Given the description of an element on the screen output the (x, y) to click on. 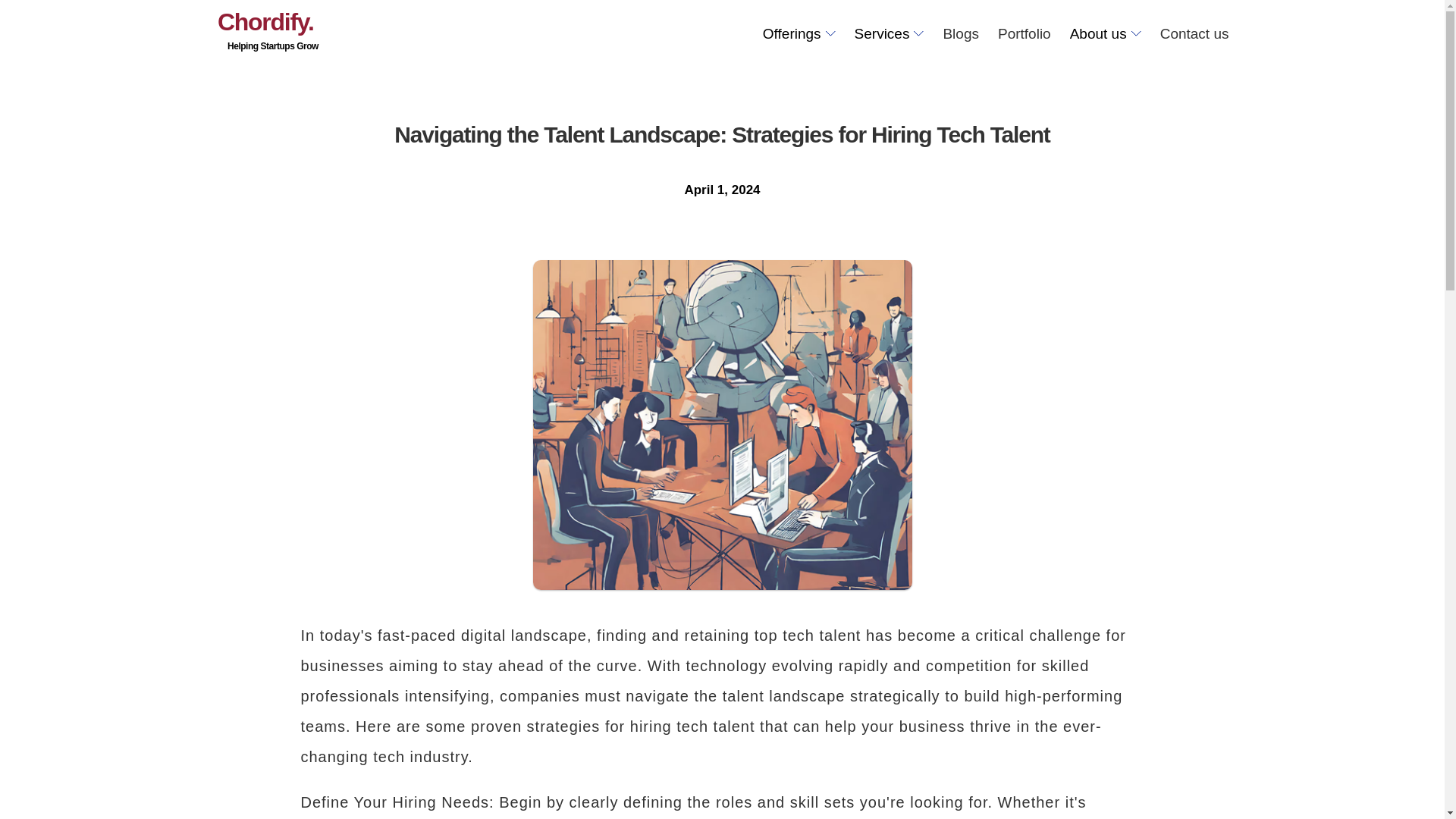
Contact us (272, 33)
Portfolio (1194, 32)
Blogs (1024, 32)
